Given the description of an element on the screen output the (x, y) to click on. 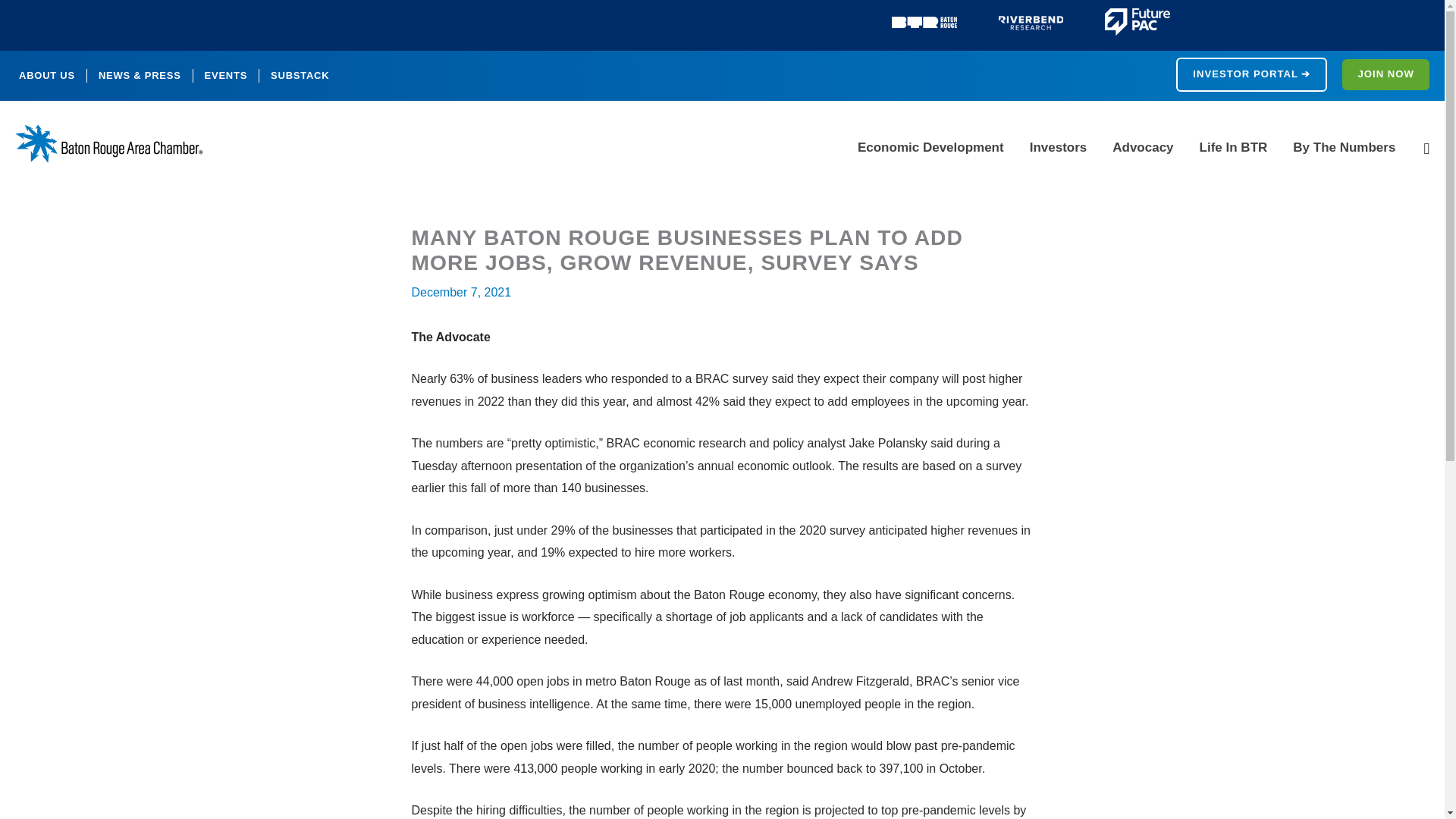
BRAC-Program-FuturePAC (1137, 21)
SUBSTACK (299, 75)
ABOUT US (46, 75)
BRAC-Program-RiverbendResearch (1031, 21)
JOIN NOW (1385, 73)
Advocacy (1142, 147)
Investors (1058, 147)
Economic Development (930, 147)
Life In BTR (1233, 147)
Better in BTR (923, 21)
